Given the description of an element on the screen output the (x, y) to click on. 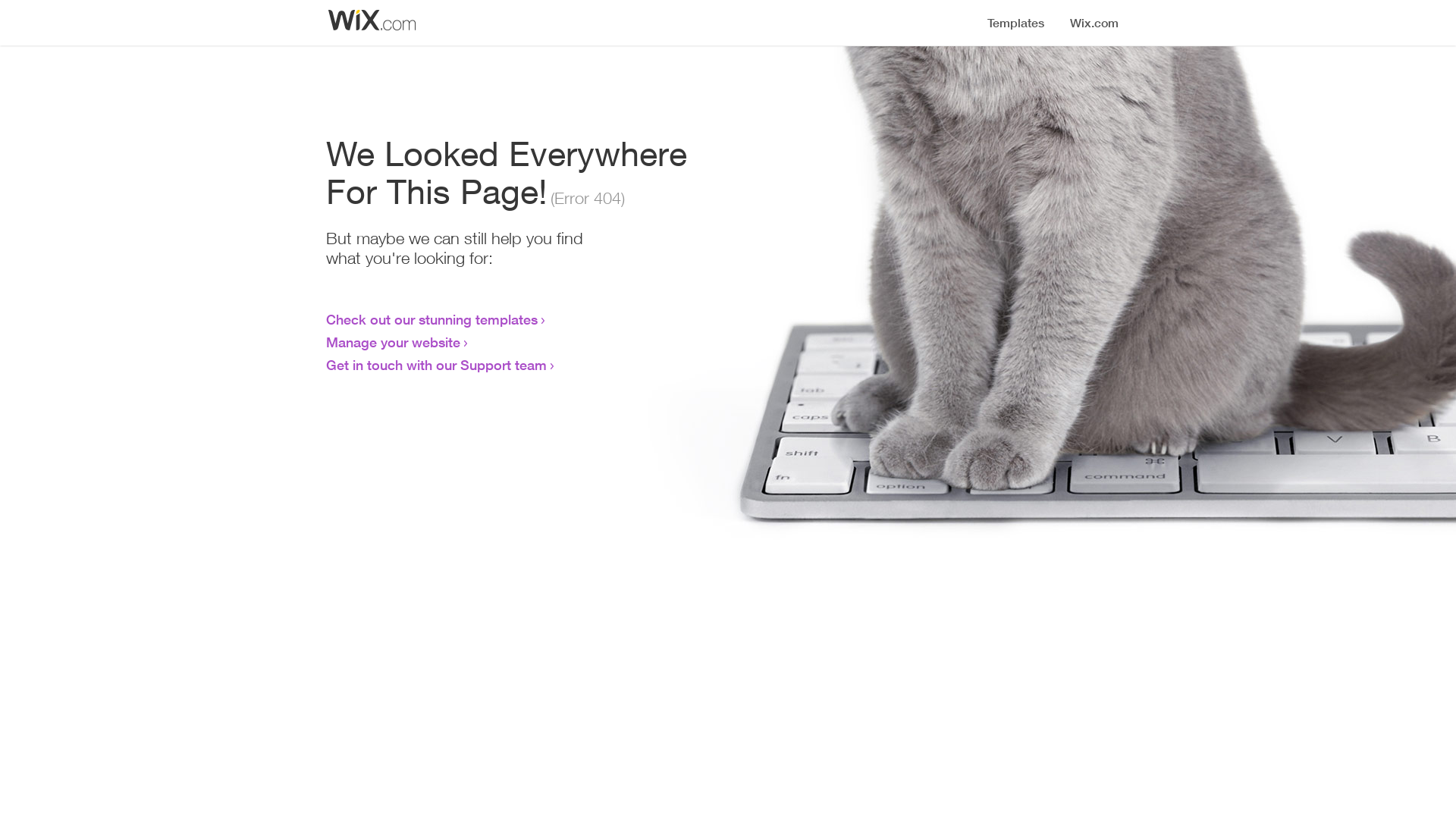
Check out our stunning templates Element type: text (431, 318)
Get in touch with our Support team Element type: text (436, 364)
Manage your website Element type: text (393, 341)
